Given the description of an element on the screen output the (x, y) to click on. 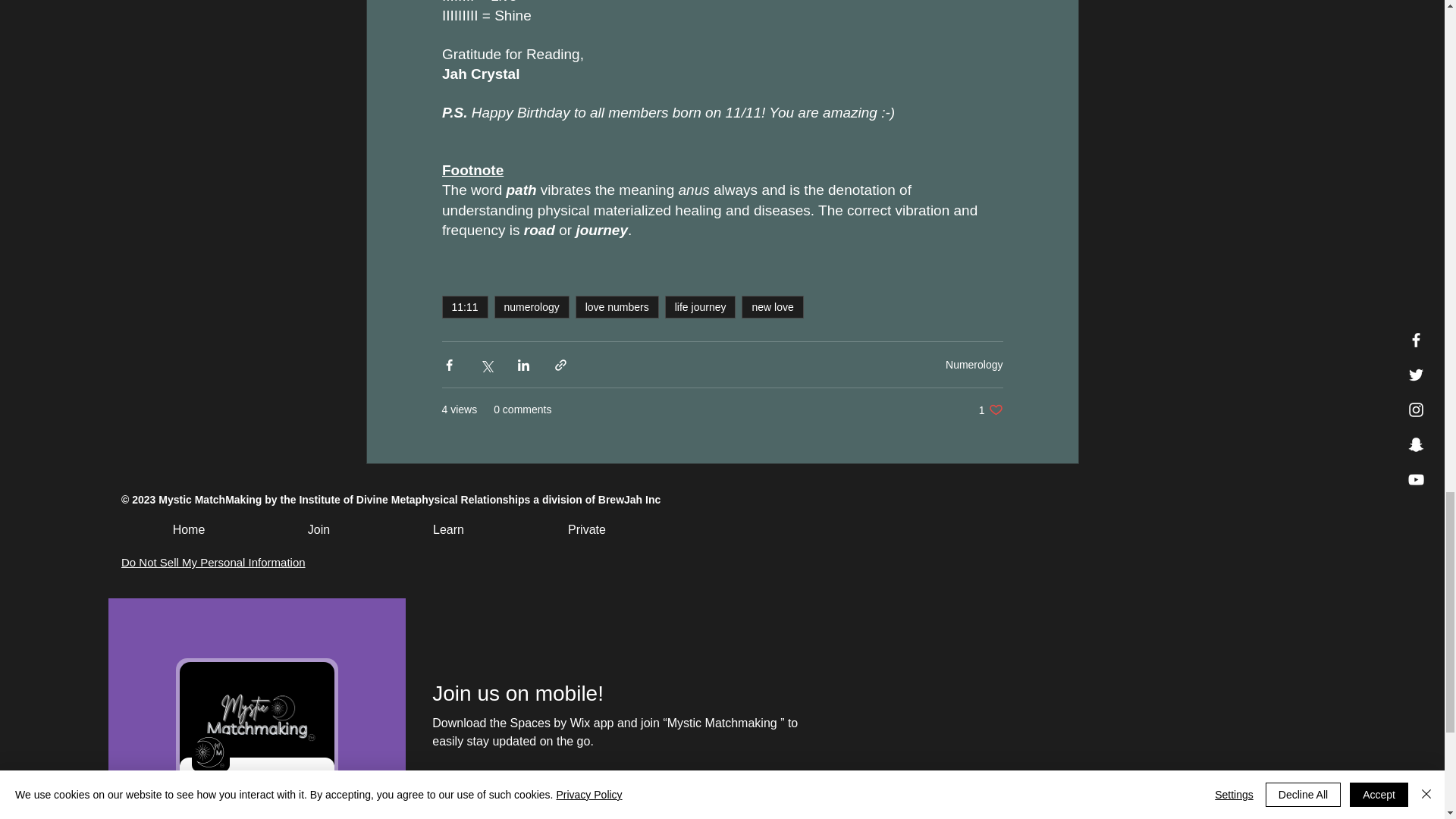
life journey (700, 306)
new love (772, 306)
11:11 (464, 306)
numerology (532, 306)
love numbers (617, 306)
